Given the description of an element on the screen output the (x, y) to click on. 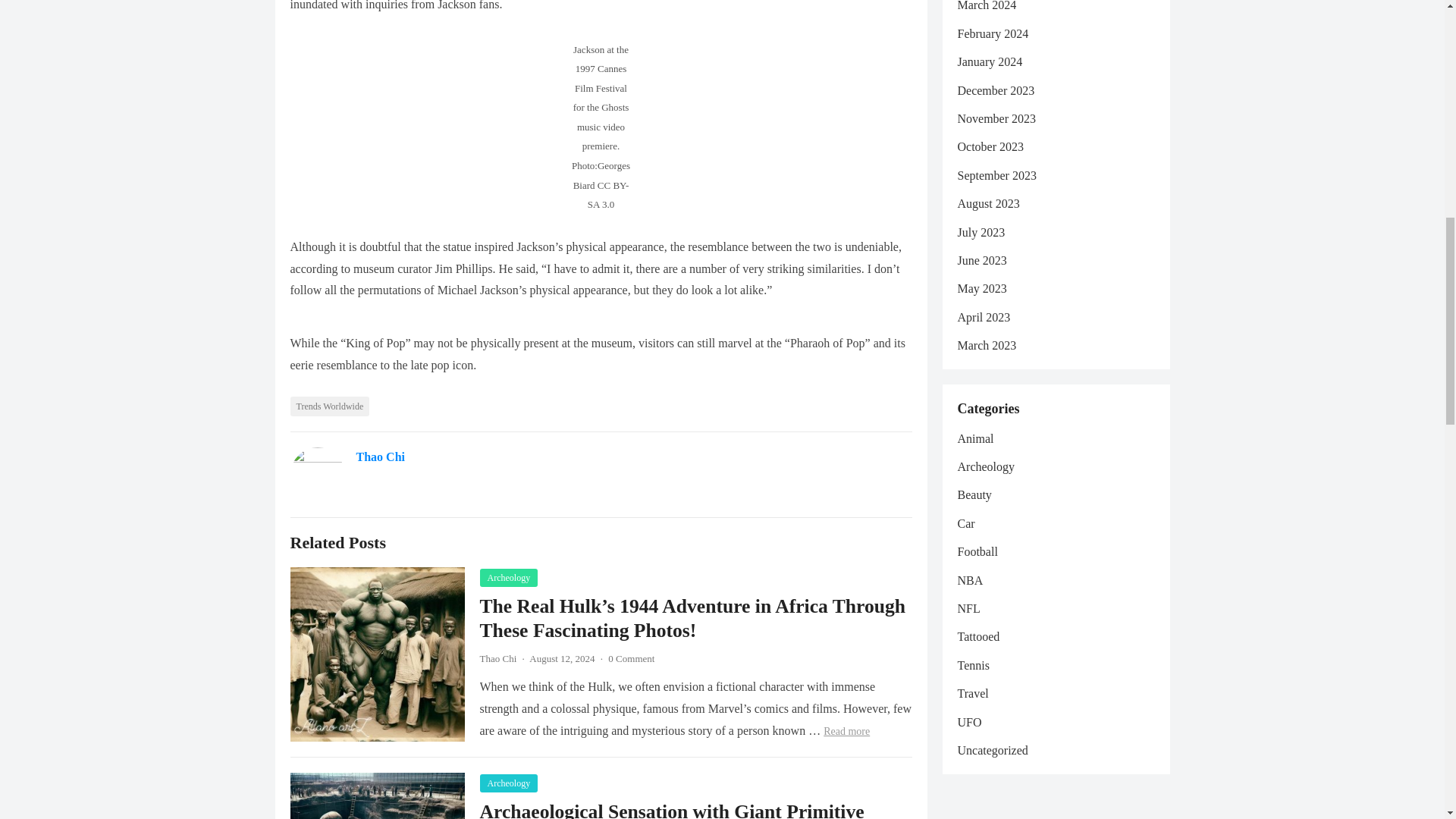
Archeology (508, 782)
Read more (846, 731)
Thao Chi (380, 456)
Posts by Thao Chi (497, 658)
Thao Chi (497, 658)
Archeology (508, 577)
0 Comment (630, 658)
Trends Worldwide (329, 406)
